Given the description of an element on the screen output the (x, y) to click on. 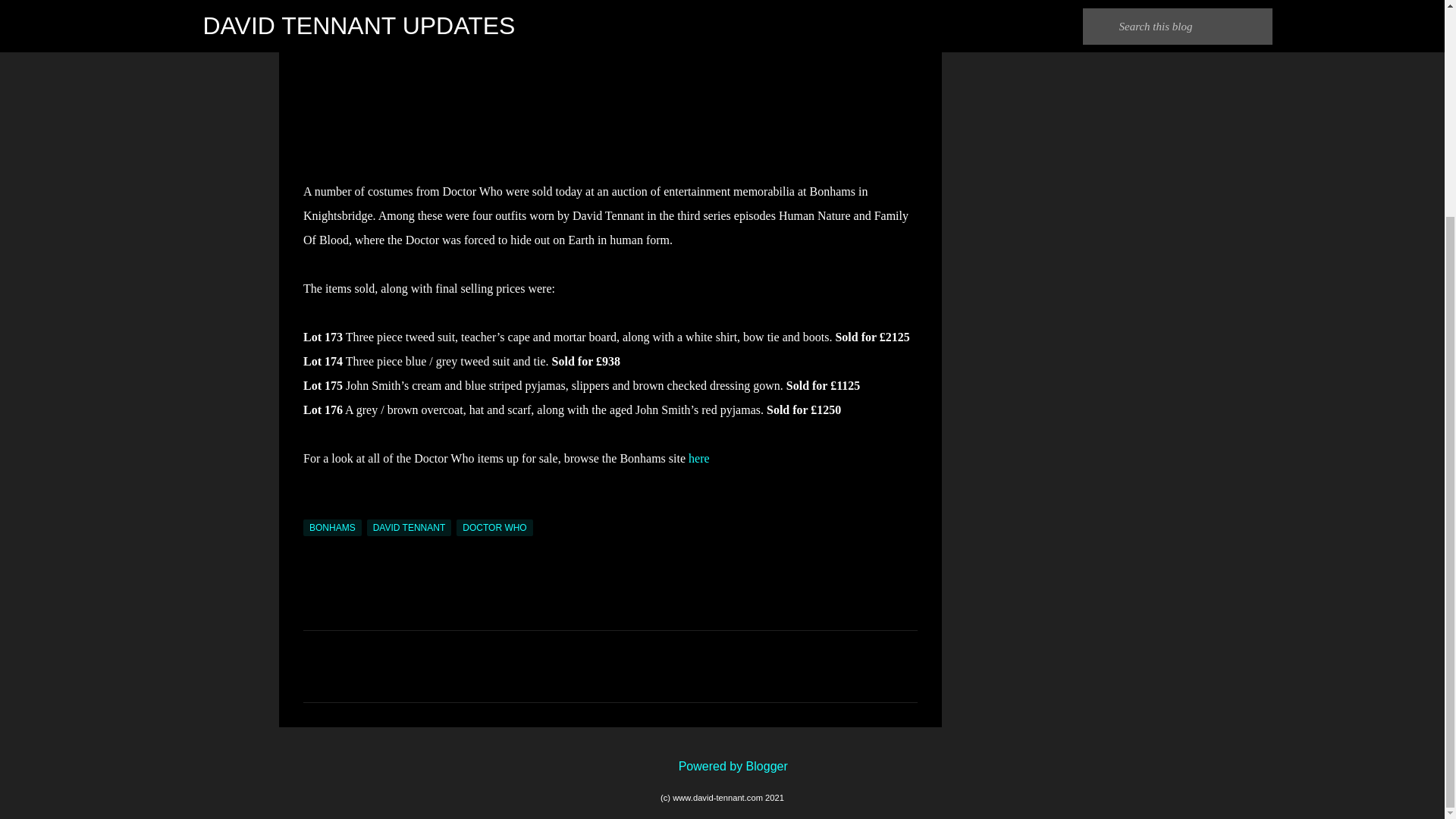
Powered by Blogger (721, 766)
here (699, 458)
DAVID TENNANT (408, 527)
DOCTOR WHO (494, 527)
BONHAMS (331, 527)
Email Post (311, 510)
